Given the description of an element on the screen output the (x, y) to click on. 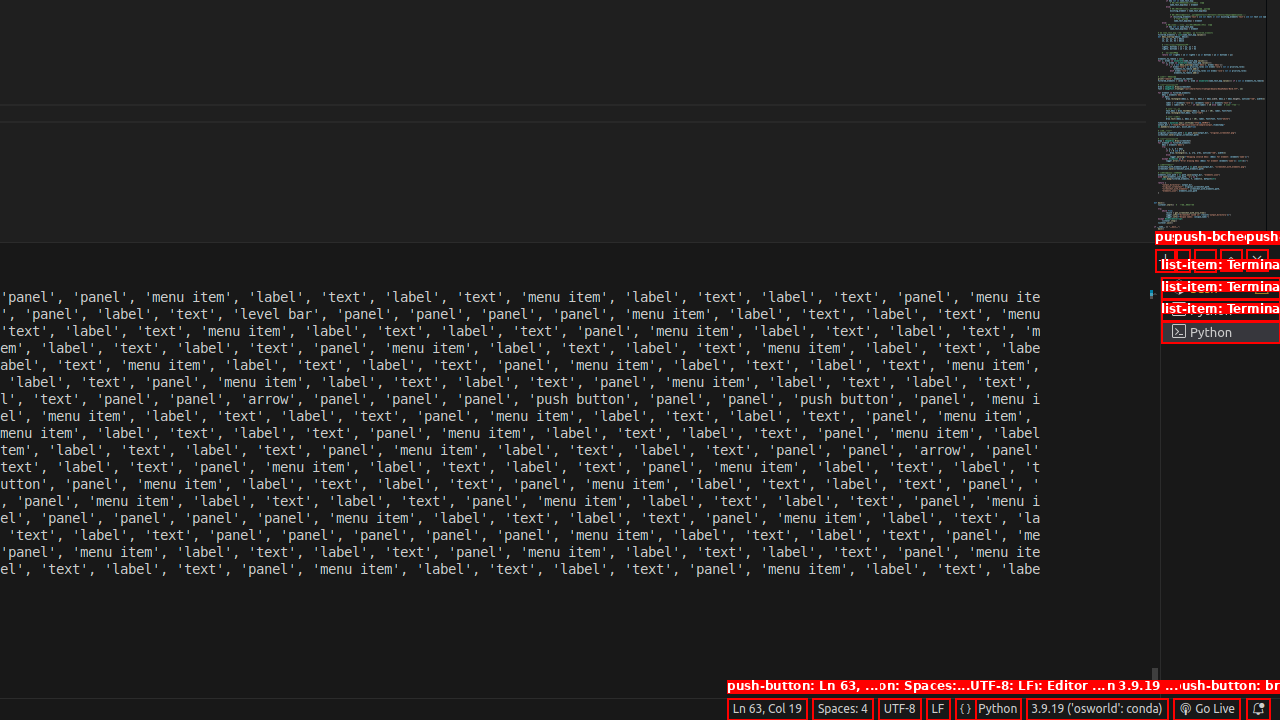
New Terminal (Ctrl+Shift+`) [Alt] Split Terminal (Ctrl+Shift+5) Element type: push-button (1166, 260)
LF Element type: push-button (938, 709)
Terminal 2 Python Element type: list-item (1220, 310)
Notifications Element type: push-button (1258, 709)
Maximize Panel Size Element type: check-box (1231, 260)
